Given the description of an element on the screen output the (x, y) to click on. 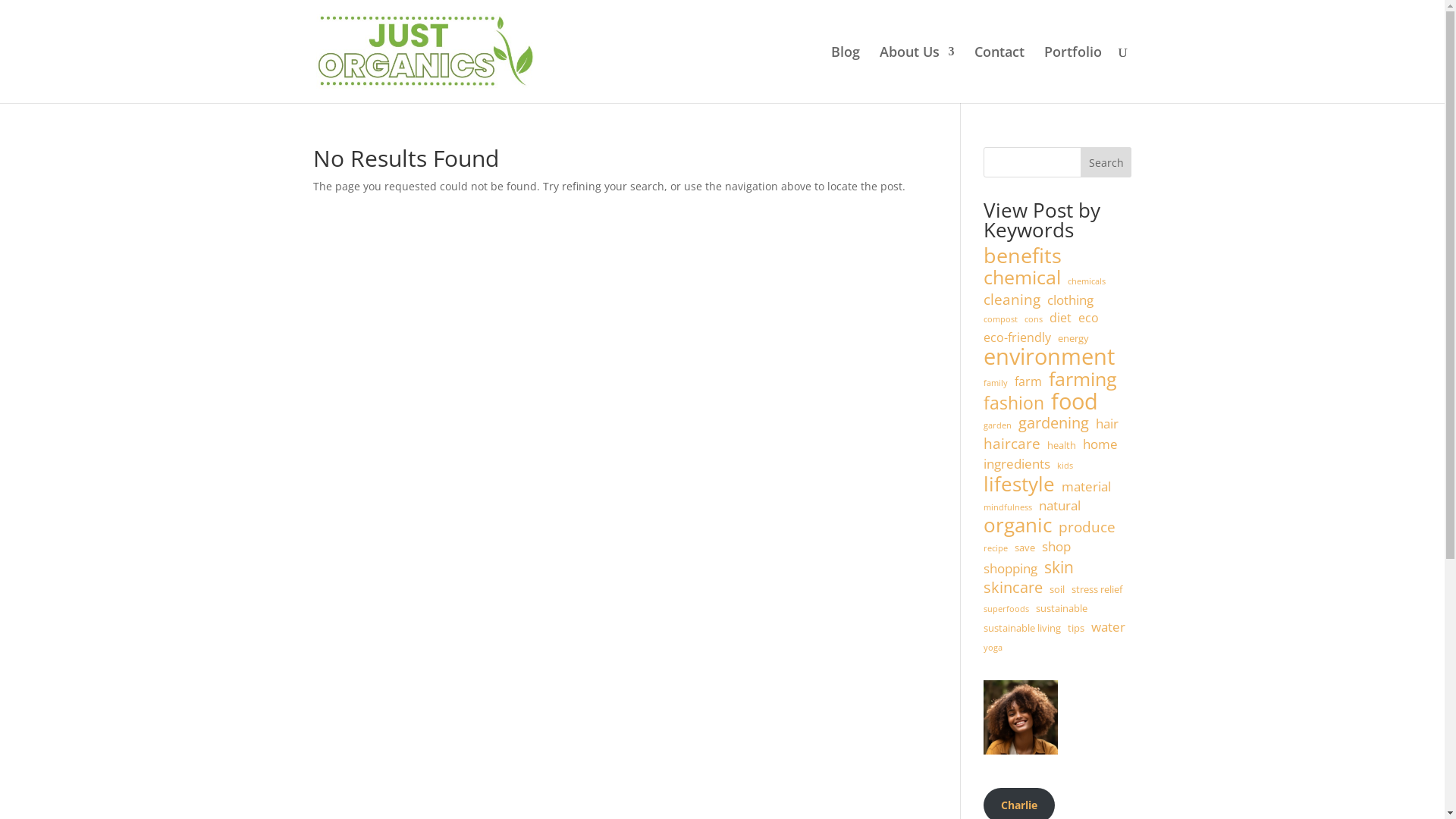
yoga Element type: text (992, 648)
clothing Element type: text (1070, 300)
Blog Element type: text (845, 74)
diet Element type: text (1060, 318)
organic Element type: text (1017, 525)
Portfolio Element type: text (1072, 74)
cons Element type: text (1033, 319)
stress relief Element type: text (1096, 589)
recipe Element type: text (995, 548)
environment Element type: text (1048, 357)
farming Element type: text (1082, 379)
cleaning Element type: text (1011, 300)
mindfulness Element type: text (1007, 507)
sustainable living Element type: text (1021, 628)
soil Element type: text (1056, 589)
tips Element type: text (1075, 628)
sustainable Element type: text (1061, 608)
skincare Element type: text (1012, 587)
chemicals Element type: text (1086, 282)
fashion Element type: text (1013, 403)
energy Element type: text (1072, 338)
home Element type: text (1099, 444)
kids Element type: text (1065, 466)
water Element type: text (1108, 627)
chemical Element type: text (1021, 277)
eco-friendly Element type: text (1017, 338)
shop Element type: text (1055, 546)
ingredients Element type: text (1016, 464)
garden Element type: text (997, 426)
family Element type: text (995, 383)
Search Element type: text (1106, 162)
shopping Element type: text (1010, 568)
hair Element type: text (1106, 423)
compost Element type: text (1000, 319)
farm Element type: text (1027, 382)
haircare Element type: text (1011, 444)
material Element type: text (1085, 486)
Contact Element type: text (998, 74)
produce Element type: text (1086, 527)
About Us Element type: text (916, 74)
eco Element type: text (1088, 318)
skin Element type: text (1058, 567)
gardening Element type: text (1053, 423)
food Element type: text (1074, 401)
save Element type: text (1024, 548)
superfoods Element type: text (1006, 609)
health Element type: text (1061, 445)
lifestyle Element type: text (1018, 484)
benefits Element type: text (1022, 256)
natural Element type: text (1059, 505)
